Given the description of an element on the screen output the (x, y) to click on. 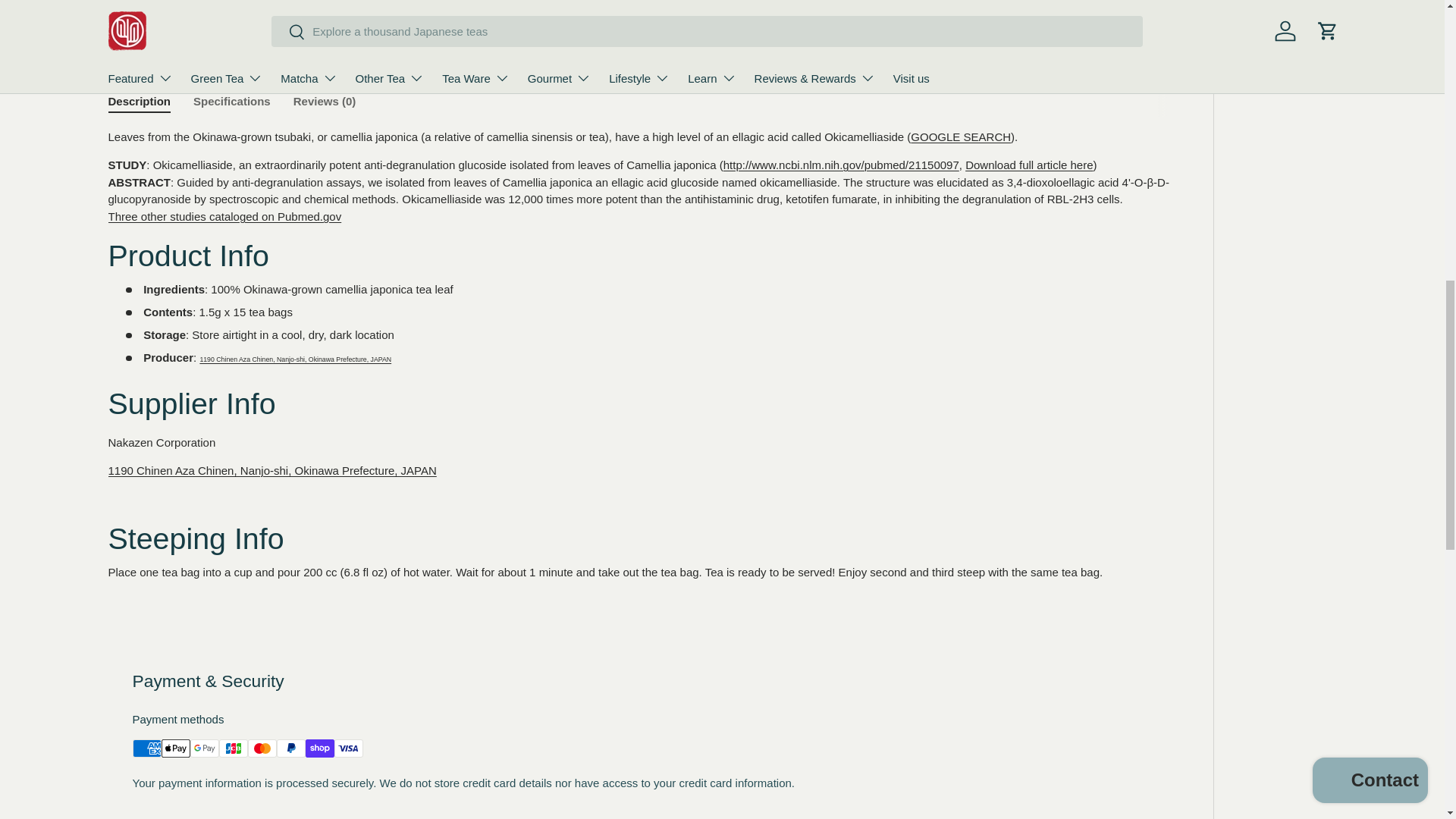
Google Search for oxicamelliacide (960, 136)
American Express (146, 748)
